Given the description of an element on the screen output the (x, y) to click on. 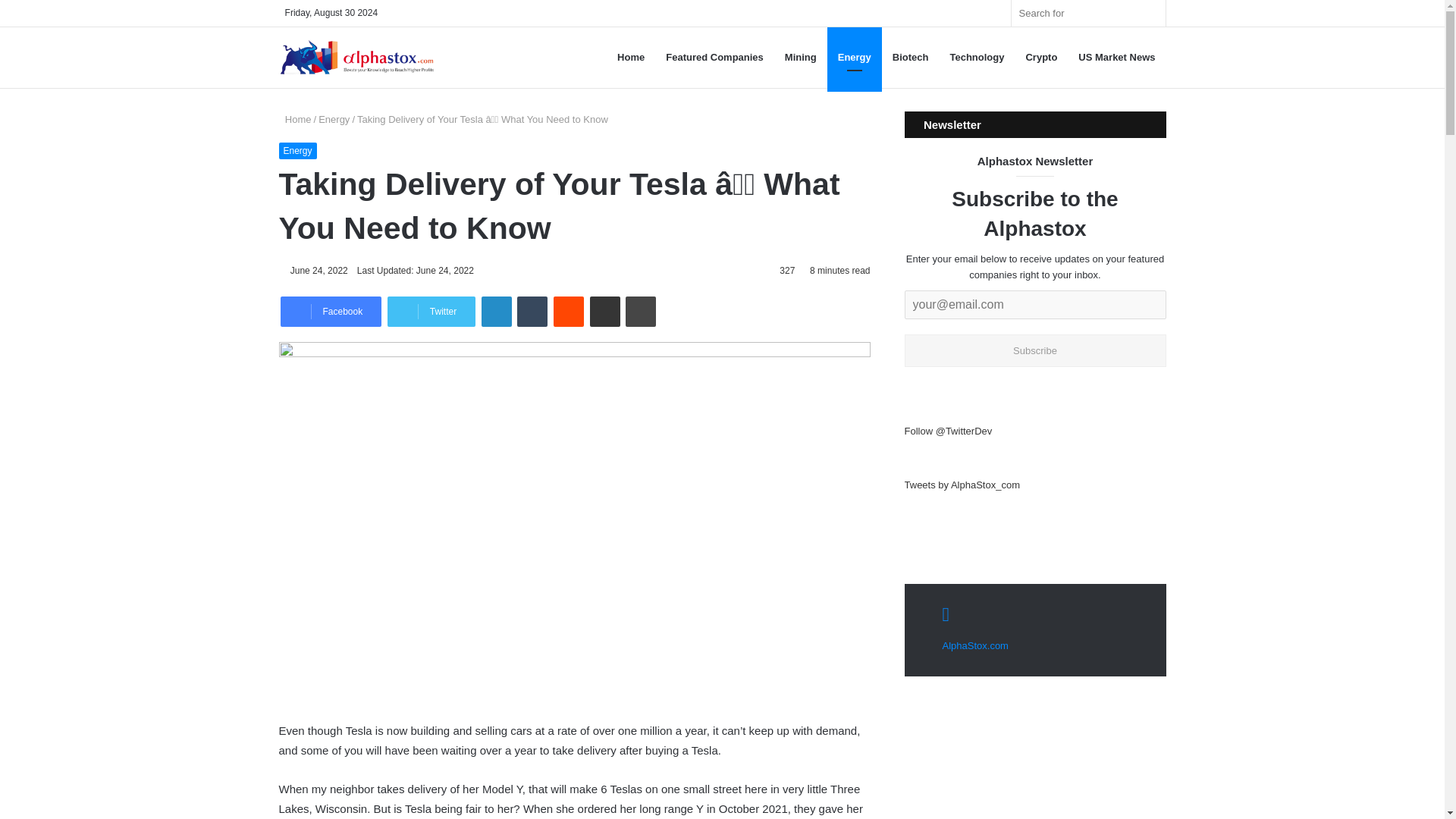
Home (295, 119)
Print (641, 311)
Facebook (331, 311)
Reddit (568, 311)
Twitter (431, 311)
Facebook (331, 311)
US Market News (1116, 57)
Print (641, 311)
Share via Email (604, 311)
Tumblr (531, 311)
